Given the description of an element on the screen output the (x, y) to click on. 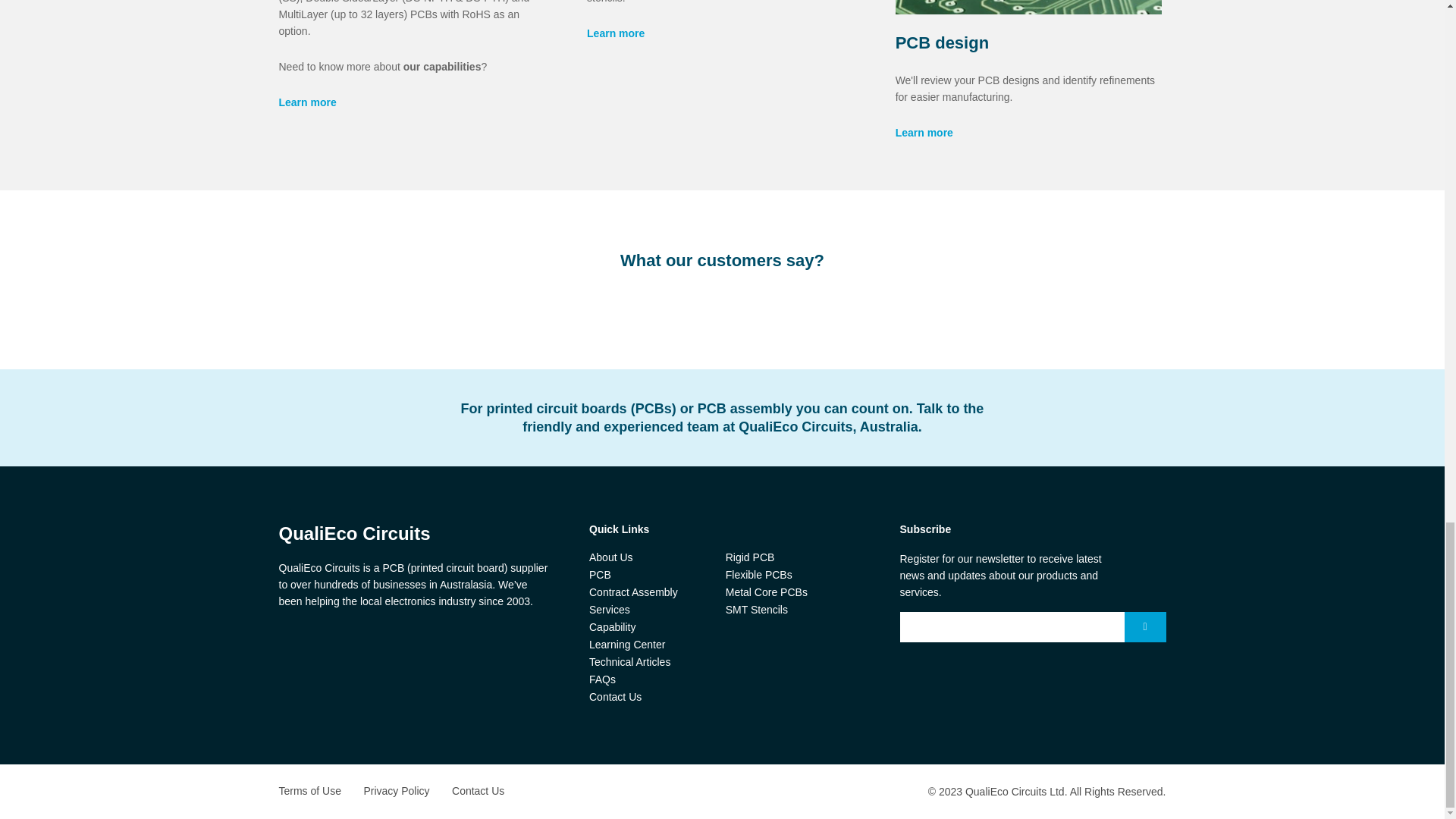
Learn more (307, 102)
Learn more (924, 132)
Learn more (615, 33)
